Given the description of an element on the screen output the (x, y) to click on. 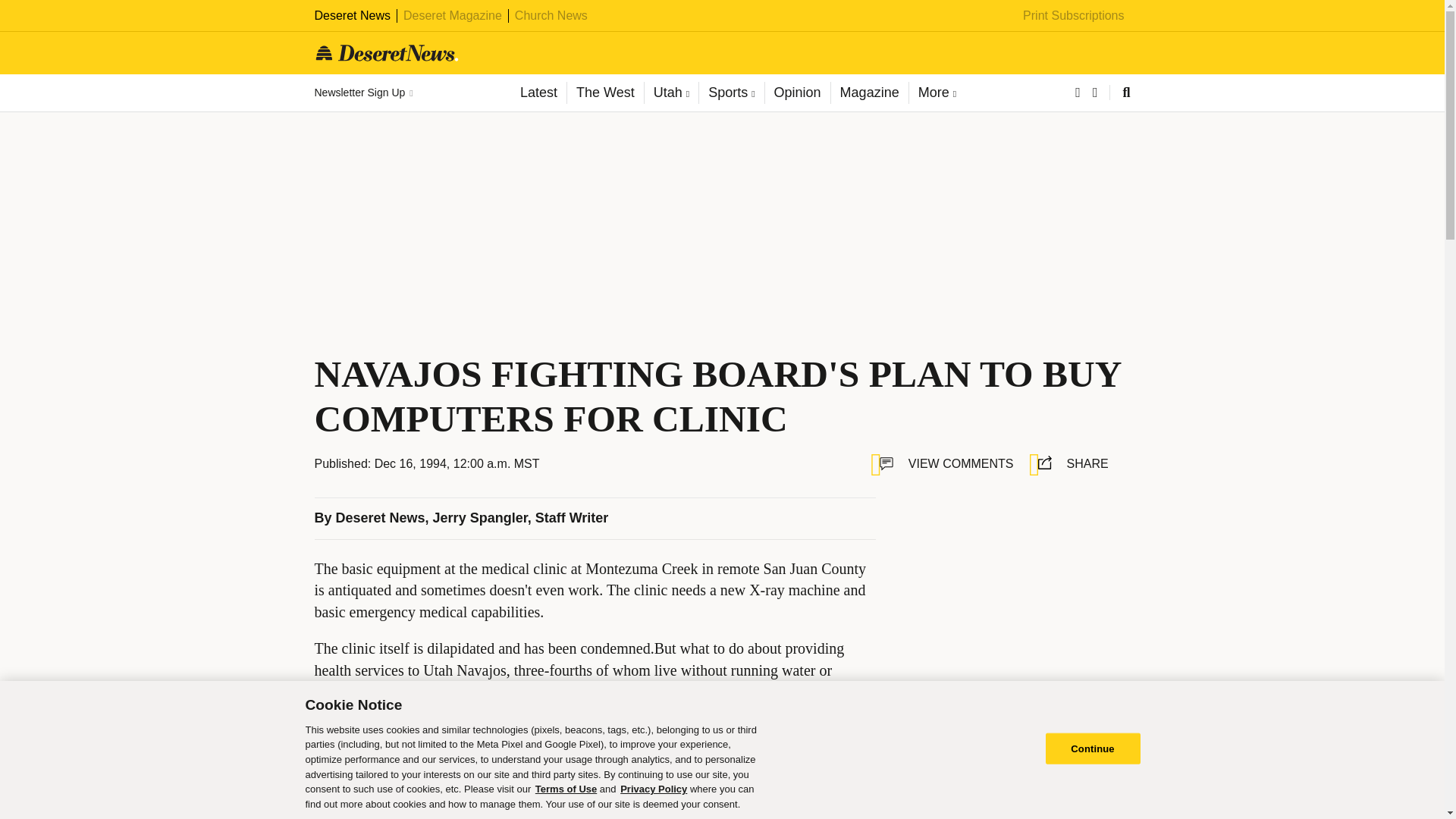
Magazine (868, 92)
The West (604, 92)
Print Subscriptions (1073, 15)
Deseret News (380, 517)
Deseret Magazine (452, 15)
1117 (917, 742)
Deseret News (352, 15)
Sports (730, 92)
Newsletter Sign Up (363, 92)
